Given the description of an element on the screen output the (x, y) to click on. 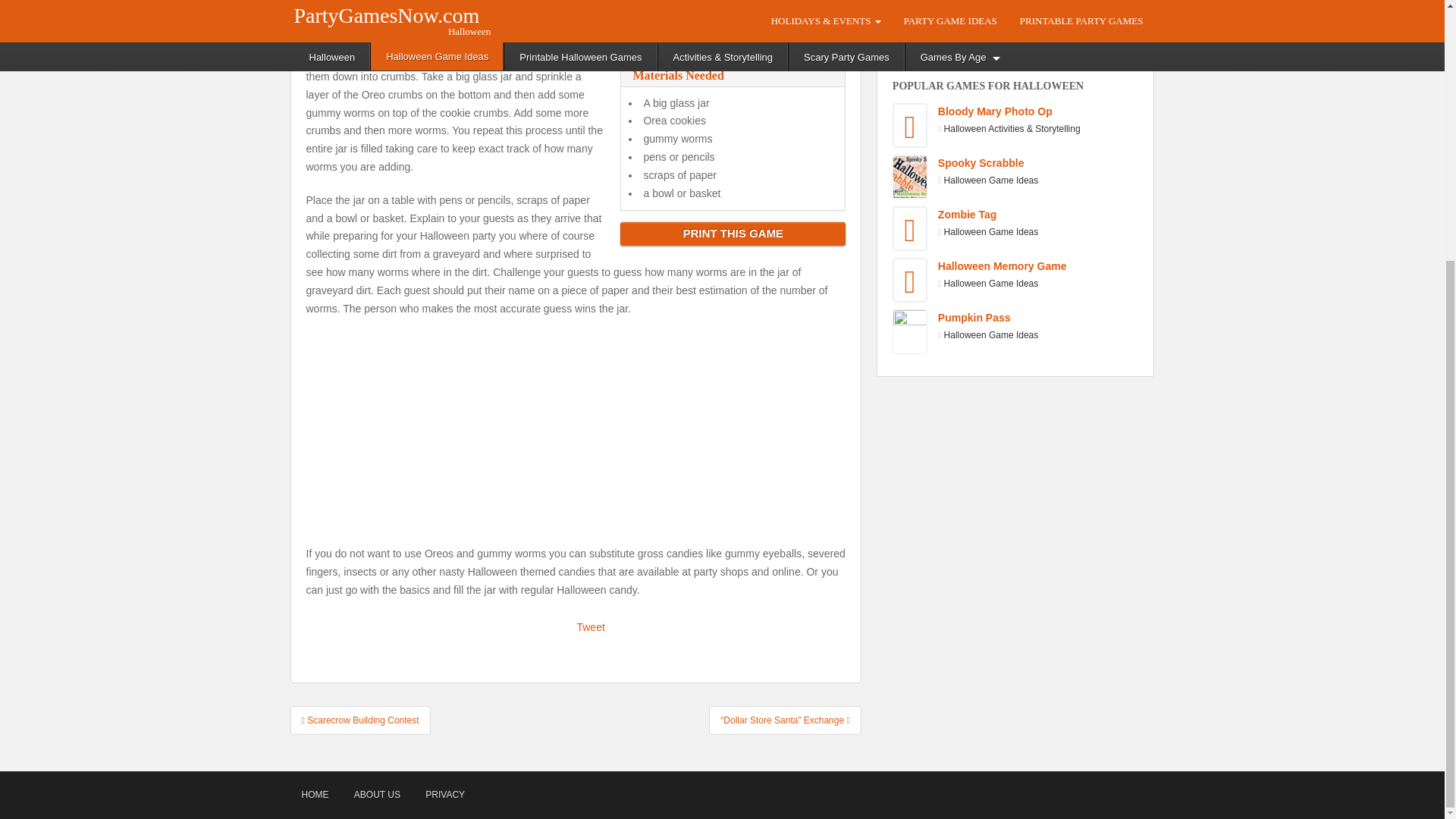
PRINT THIS GAME (732, 232)
Scarecrow Building Contest (359, 719)
Tweet (995, 33)
Tweet (590, 626)
PRINT THIS GAME (732, 233)
